Given the description of an element on the screen output the (x, y) to click on. 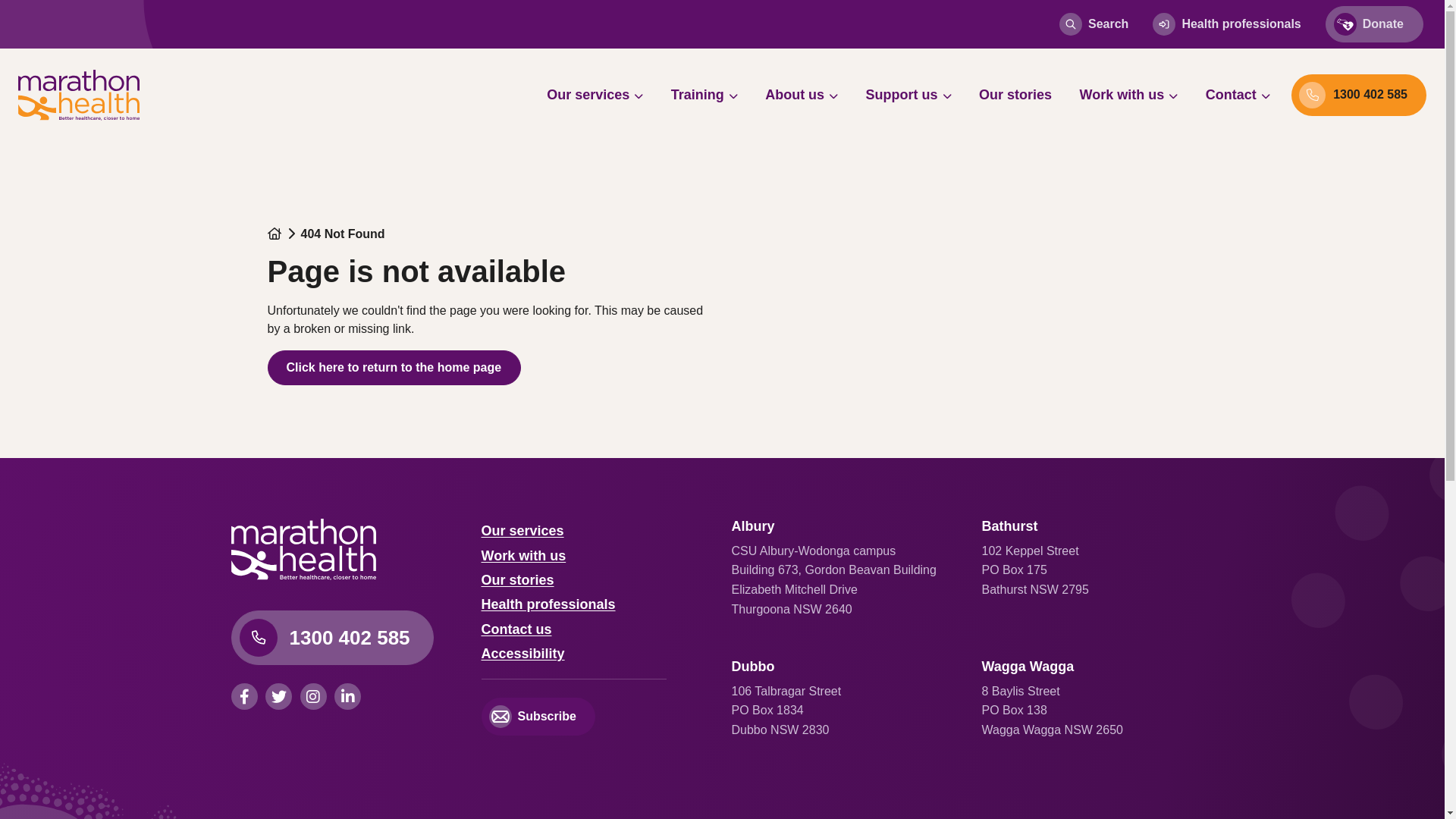
Health professionals Element type: text (547, 603)
Support us Element type: text (908, 94)
Contact us Element type: text (515, 629)
Our services Element type: text (594, 94)
1300 402 585 Element type: text (331, 637)
Health professionals Element type: text (1226, 23)
Click here to return to the home page Element type: text (393, 367)
Work with us Element type: text (1128, 94)
Our services Element type: text (521, 530)
Our stories Element type: text (516, 579)
Work with us Element type: text (522, 555)
Contact Element type: text (1237, 94)
Our stories Element type: text (1014, 94)
1300 402 585 Element type: text (1358, 95)
Accessibility Element type: text (522, 653)
About us Element type: text (801, 94)
Training Element type: text (703, 94)
Donate Element type: text (1374, 24)
Subscribe Element type: text (537, 716)
